Given the description of an element on the screen output the (x, y) to click on. 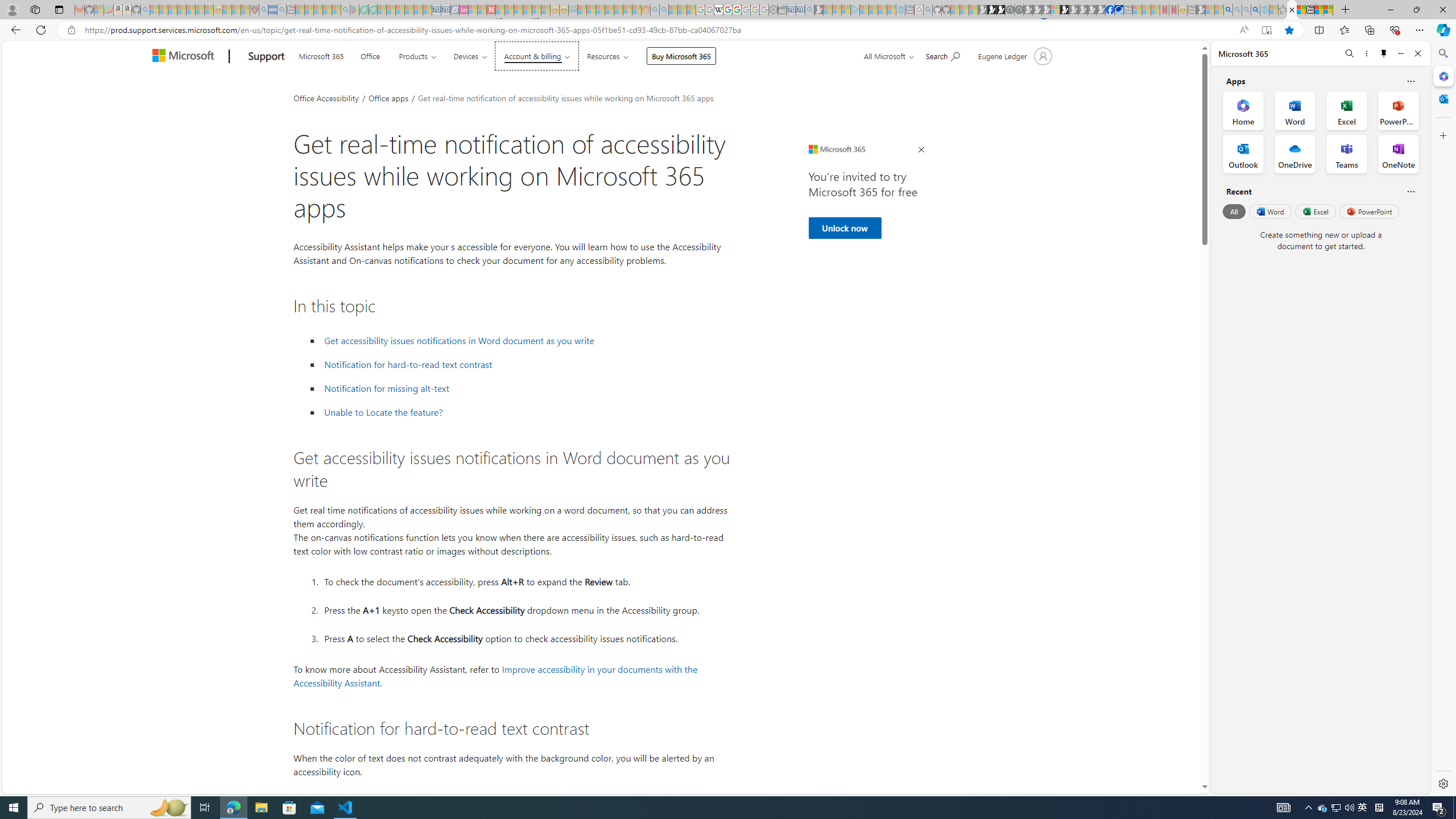
Office Accessibility (326, 97)
list of asthma inhalers uk - Search - Sleeping (263, 9)
MSN - Sleeping (1200, 9)
Utah sues federal government - Search - Sleeping (663, 9)
Office (369, 54)
